Given the description of an element on the screen output the (x, y) to click on. 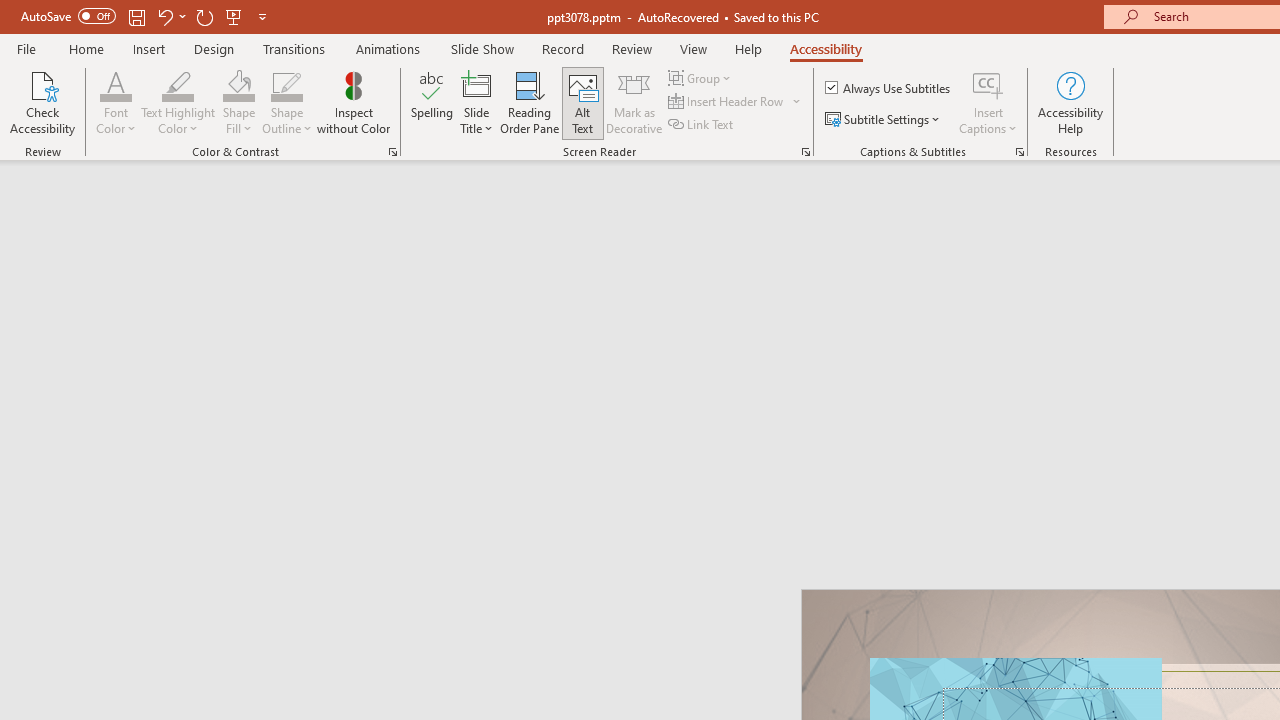
Color & Contrast (392, 151)
Inspect without Color (353, 102)
